Given the description of an element on the screen output the (x, y) to click on. 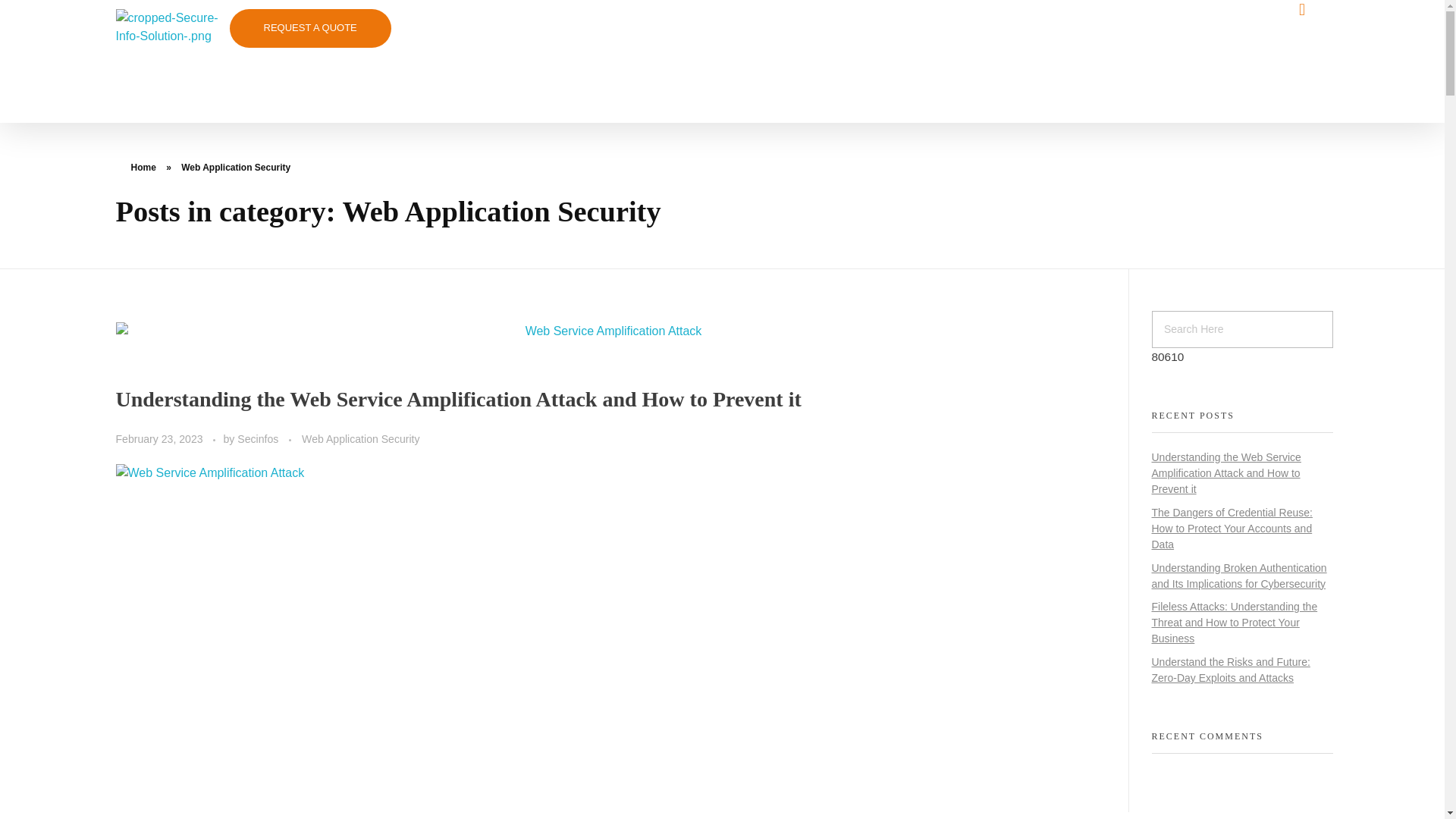
Secinfos (259, 439)
Web Service Amplification Attack (607, 331)
View all posts by Secinfos (259, 439)
View all posts in Web Application Security (360, 439)
February 23, 2023 (160, 439)
Secure Info Solution (203, 131)
Web Application Security (360, 439)
Secure Info Solution (171, 65)
Home (143, 167)
REQUEST A QUOTE (309, 28)
Secure Info Solution (203, 131)
